Given the description of an element on the screen output the (x, y) to click on. 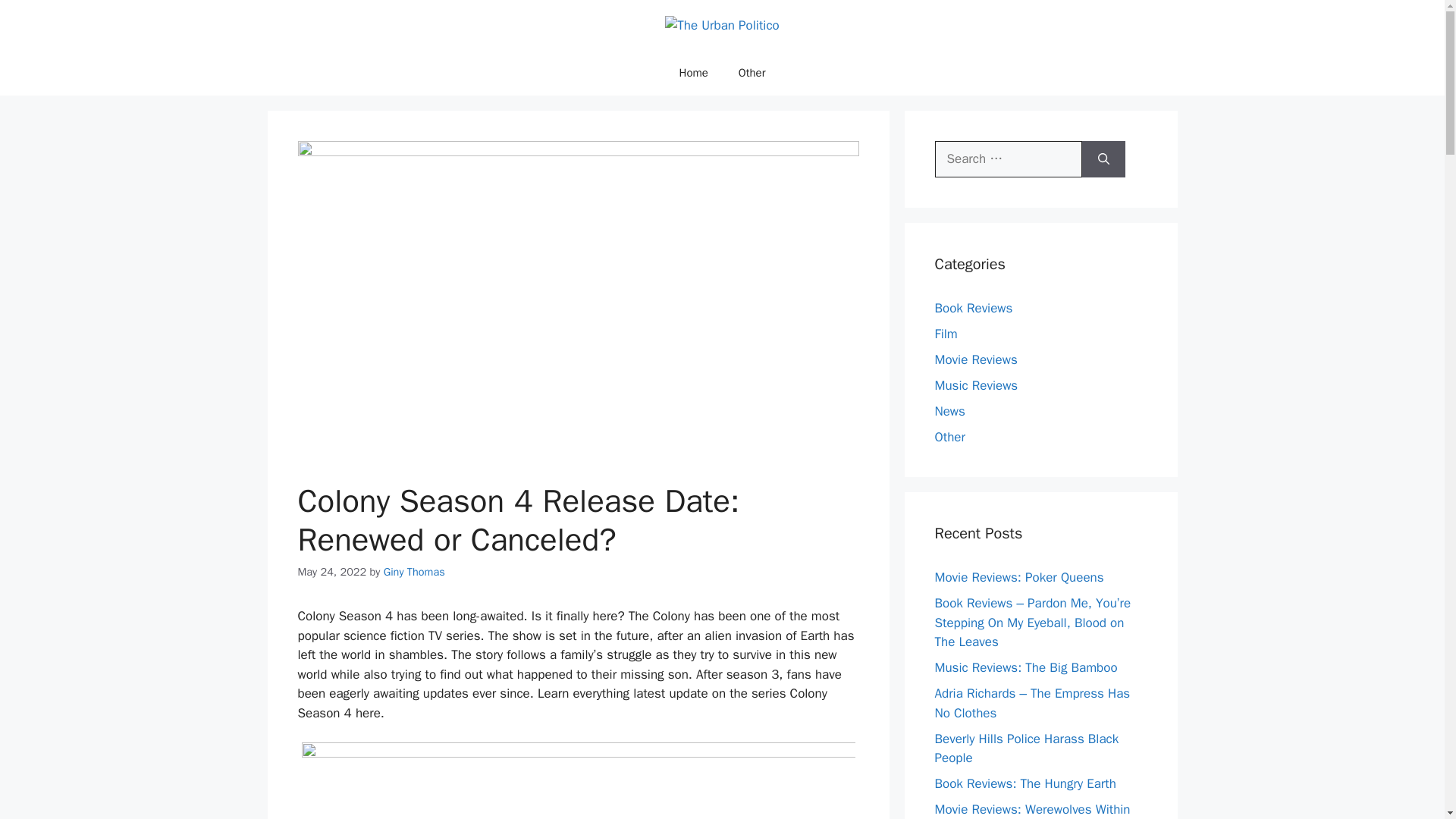
View all posts by Giny Thomas (414, 571)
Home (693, 72)
Giny Thomas (414, 571)
Music Reviews (975, 385)
Search for: (1007, 158)
Film (945, 333)
Movie Reviews (975, 359)
Other (751, 72)
Movie Reviews: Poker Queens (1018, 577)
Other (948, 437)
